Given the description of an element on the screen output the (x, y) to click on. 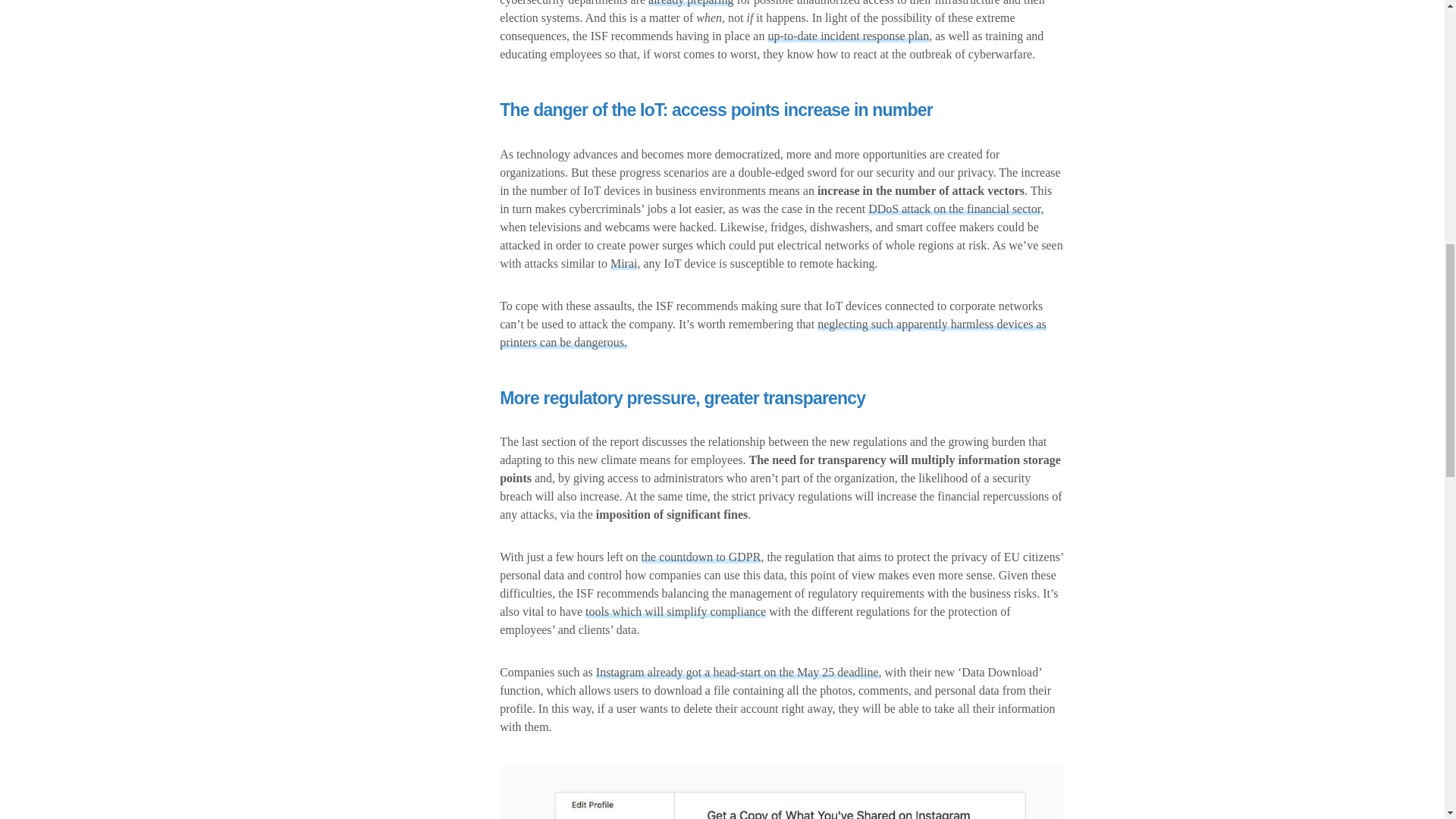
tools which will simplify compliance (675, 611)
Instagram already got a head-start on the May 25 deadline (737, 671)
the countdown to GDPR (701, 556)
already preparing (690, 2)
up-to-date incident response plan (847, 35)
Mirai (623, 263)
DDoS attack on the financial sector (954, 208)
